Given the description of an element on the screen output the (x, y) to click on. 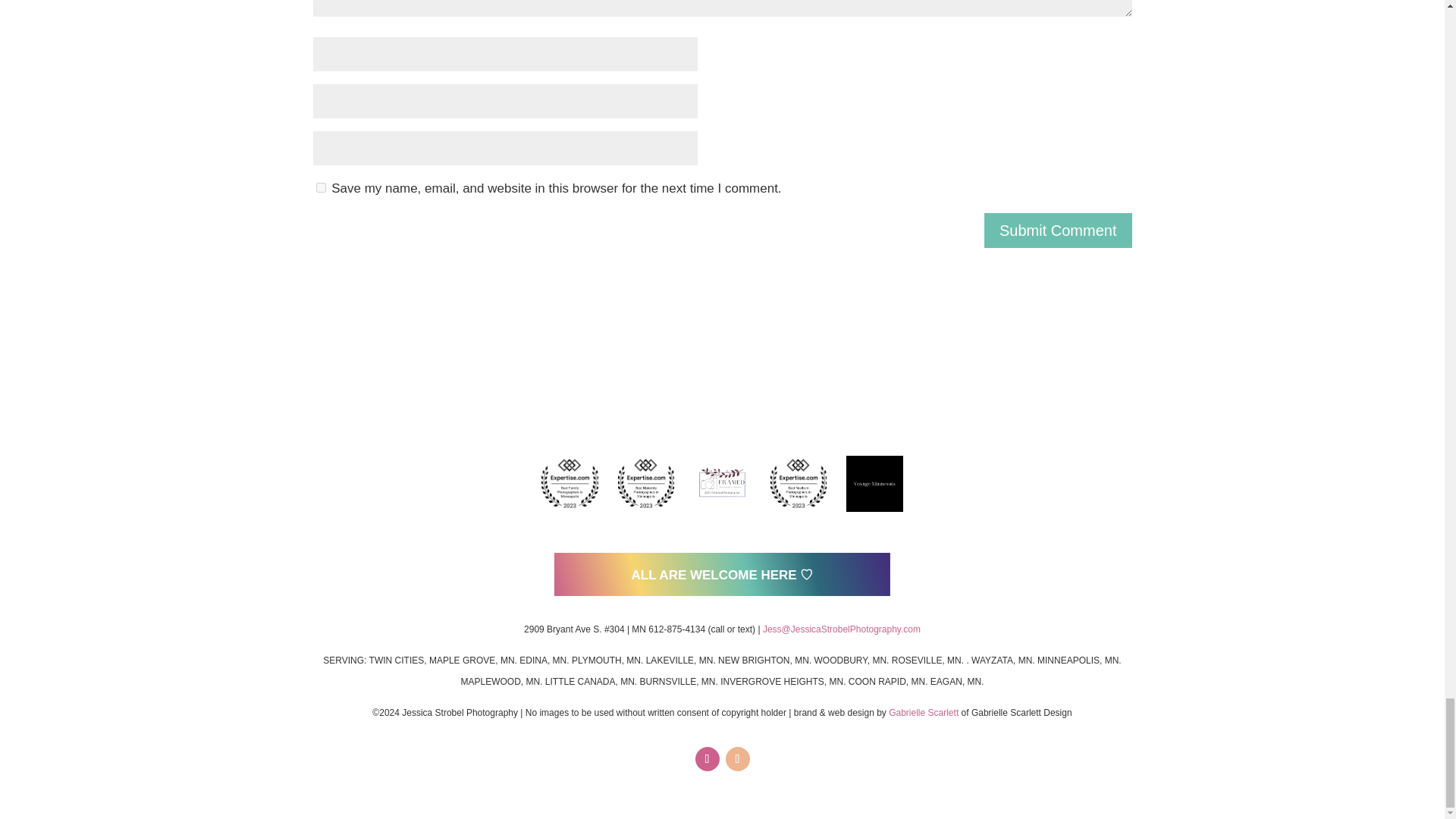
yes (319, 187)
